Given the description of an element on the screen output the (x, y) to click on. 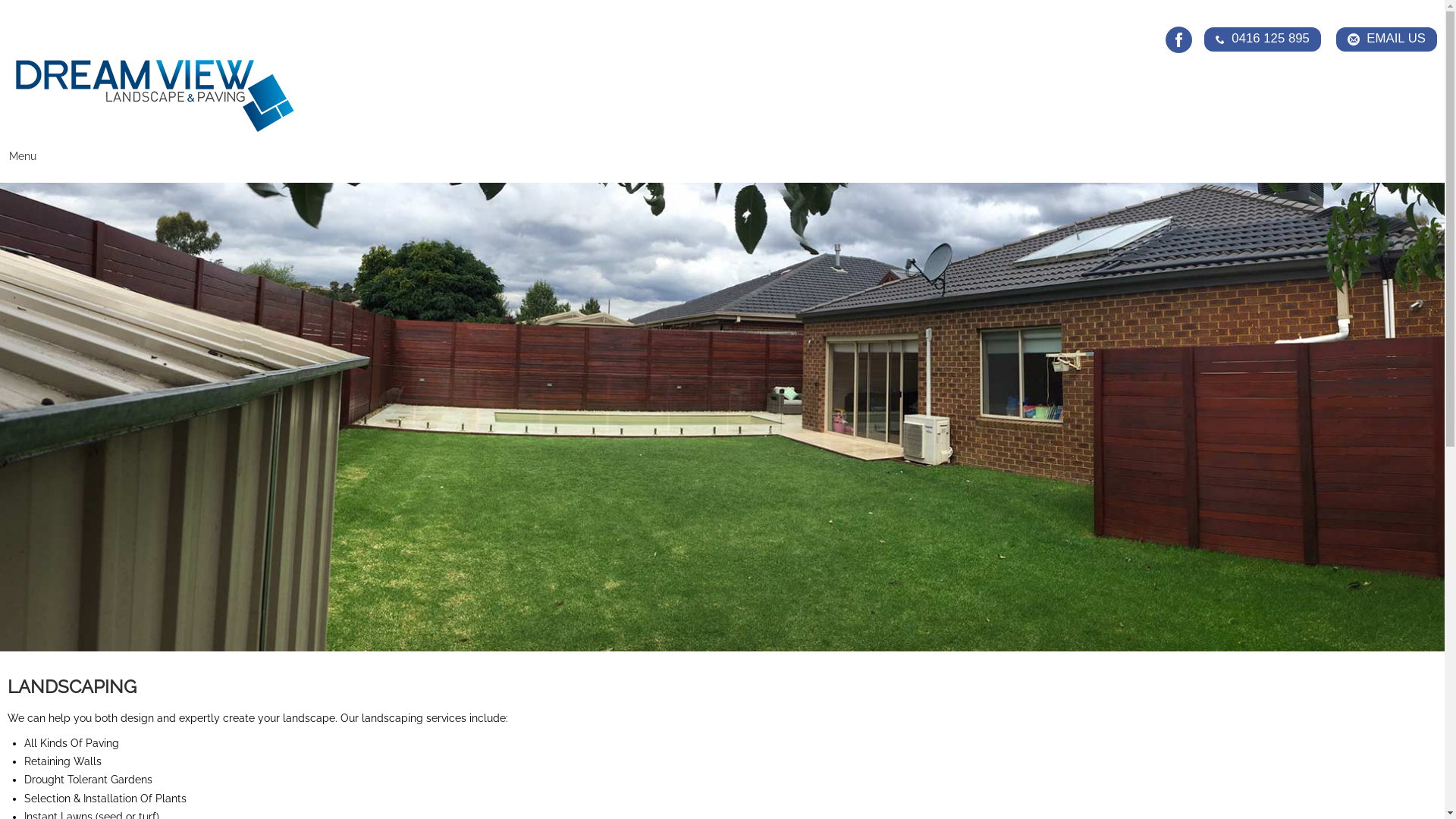
  0416 125 895 Element type: text (1262, 39)
  EMAIL US Element type: text (1386, 39)
